Given the description of an element on the screen output the (x, y) to click on. 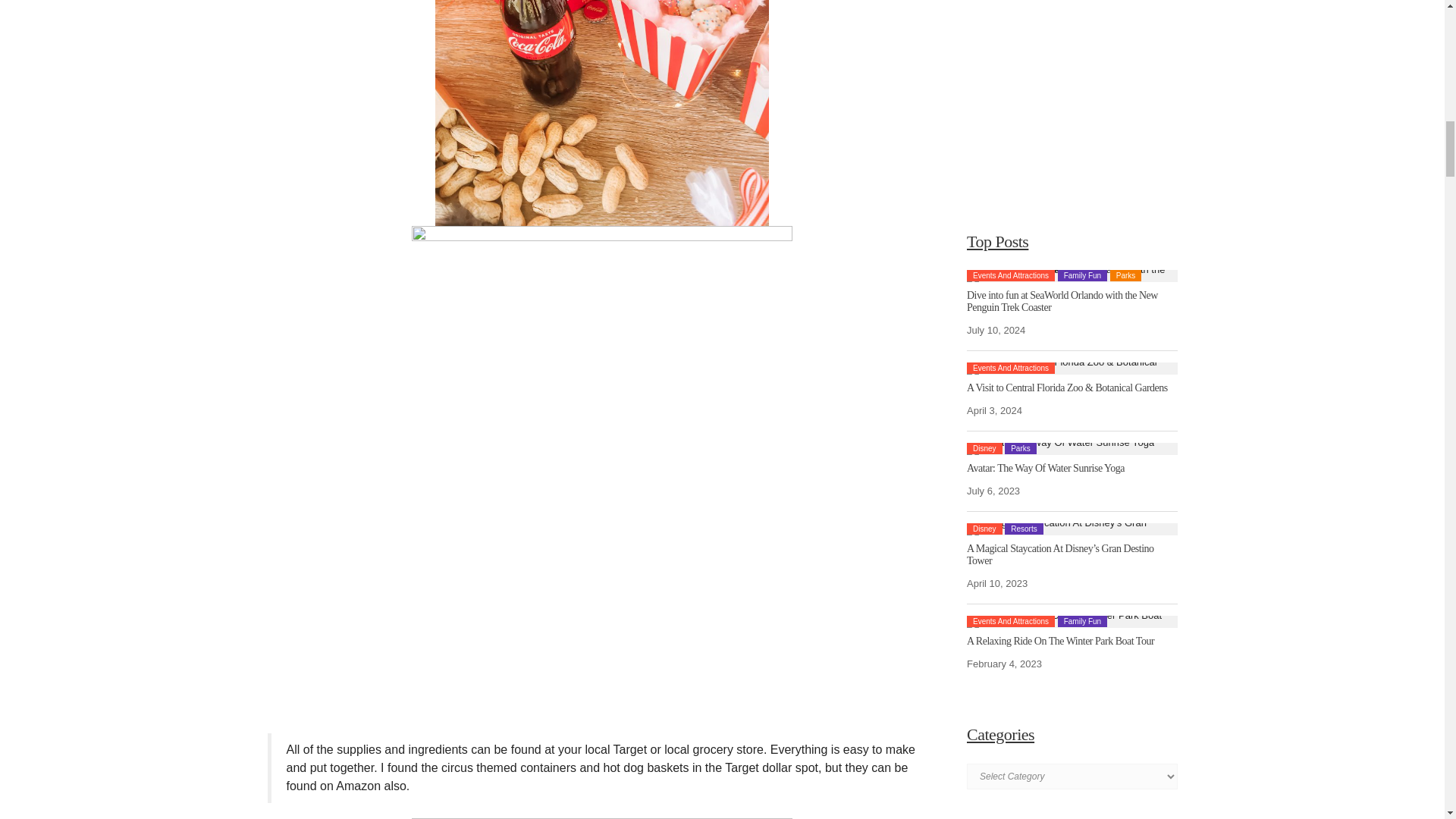
Avatar: The Way Of Water Sunrise Yoga (1060, 448)
Avatar: The Way Of Water Sunrise Yoga (1045, 468)
